Given the description of an element on the screen output the (x, y) to click on. 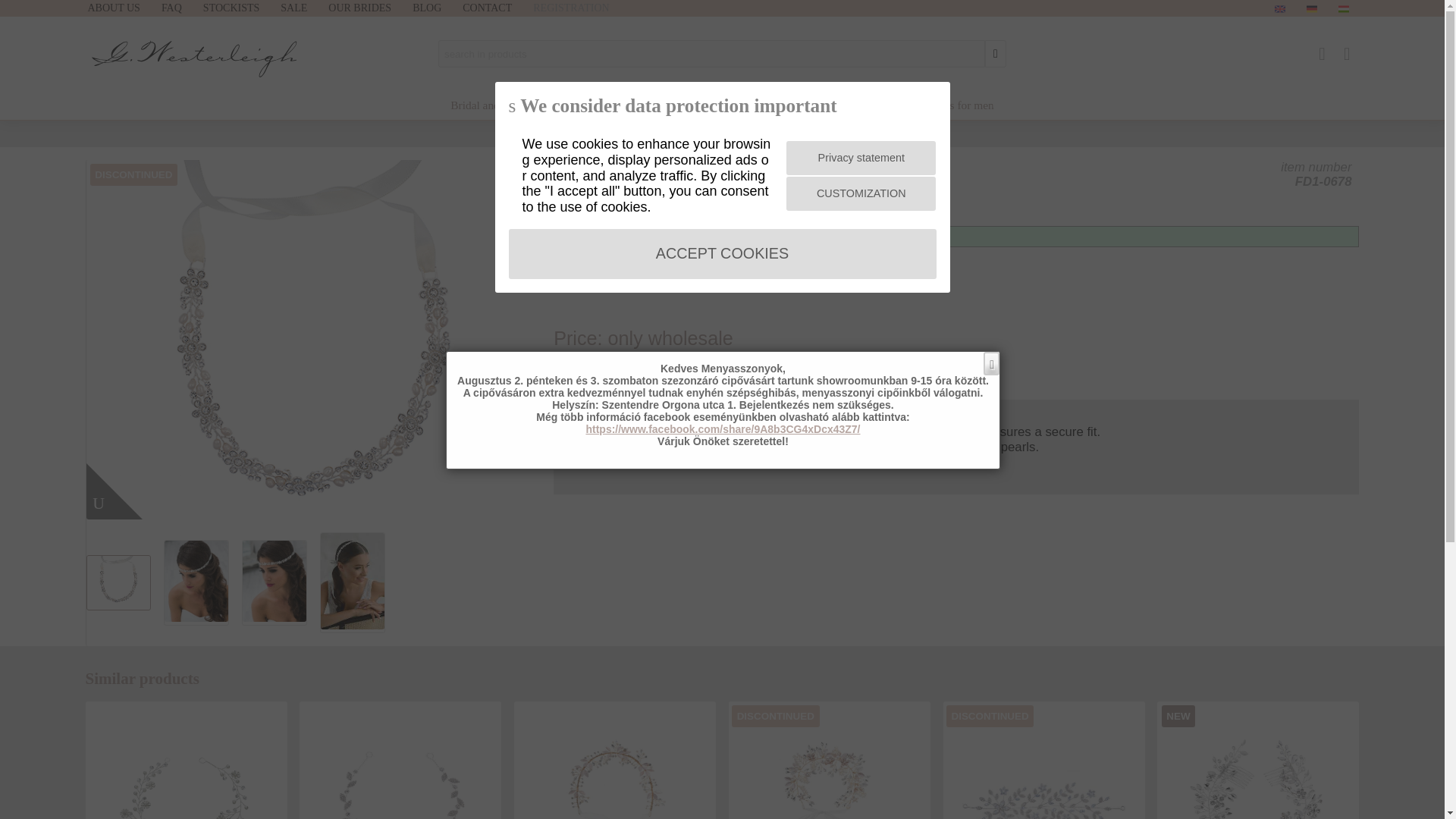
English (1279, 9)
HB6254 Headband (1043, 766)
HS-J5870 Hair vine (400, 766)
Deutsch (1311, 9)
OUR BRIDES (370, 8)
SALE (305, 8)
HB6132G Headband (615, 766)
STOCKISTS (242, 8)
Deutsch (1311, 7)
Magyar (1343, 9)
Hair accessories (706, 105)
FAQ (182, 8)
ABOUT US (124, 8)
HB6329G Headband (829, 766)
